Given the description of an element on the screen output the (x, y) to click on. 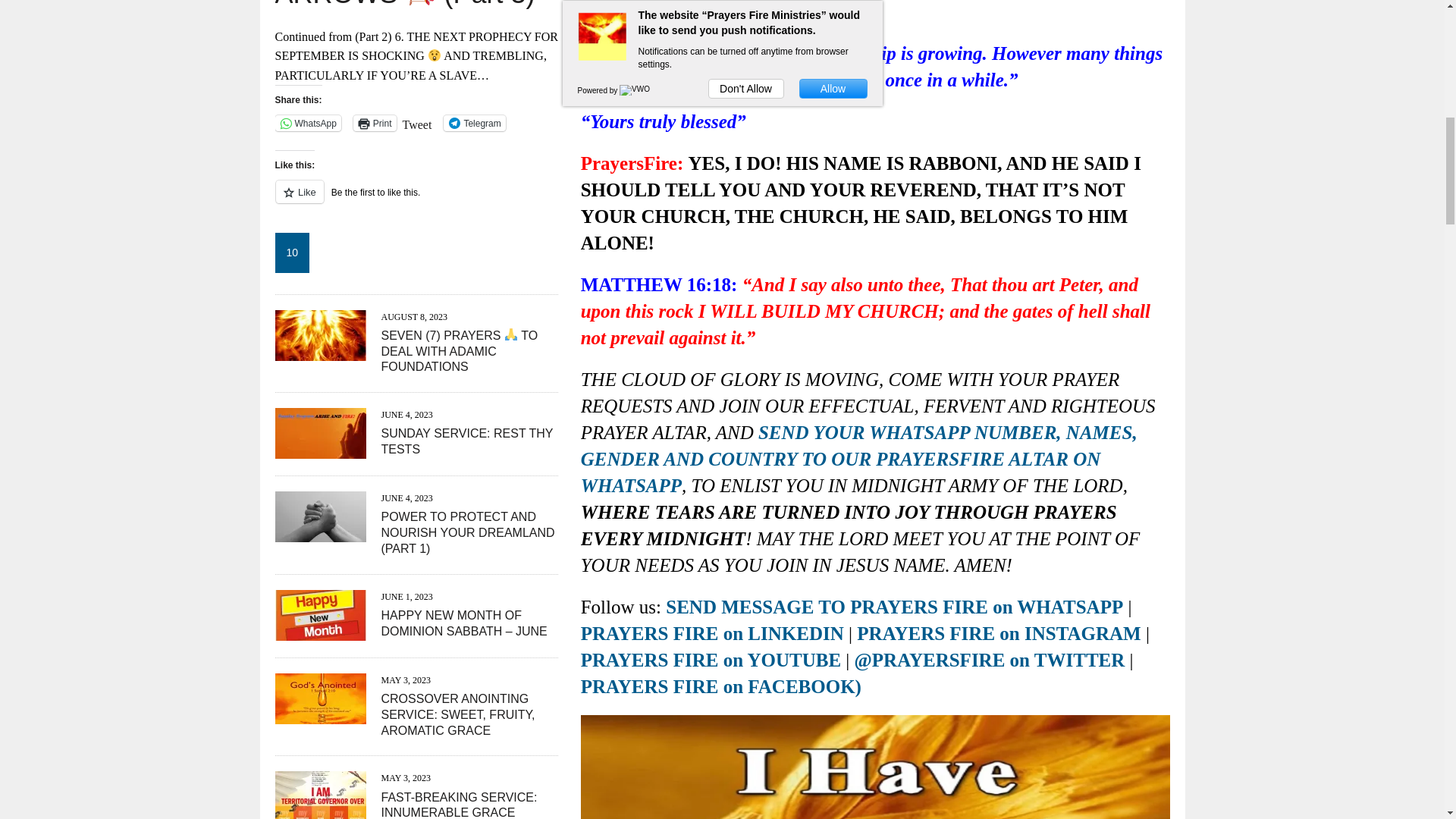
PRAYERS FIRE on LINKEDIN (712, 633)
SEND MESSAGE TO PRAYERS FIRE on WHATSAPP (893, 607)
PRAYERS FIRE on YOUTUBE (710, 660)
PRAYERS FIRE on INSTAGRAM (998, 633)
